Given the description of an element on the screen output the (x, y) to click on. 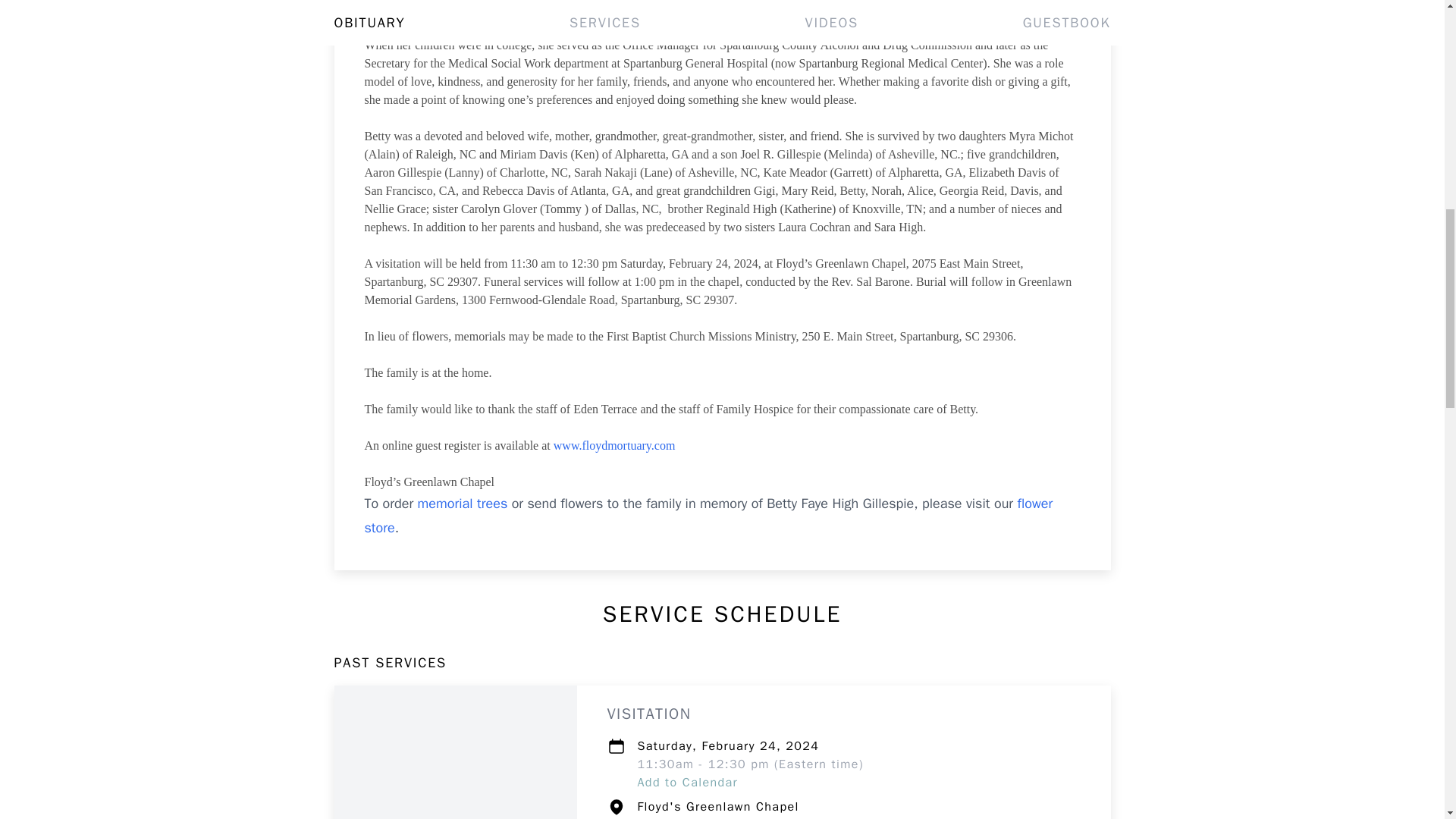
Add to Calendar (687, 782)
www.floydmortuary.com (614, 445)
flower store (708, 515)
memorial trees (462, 503)
